Given the description of an element on the screen output the (x, y) to click on. 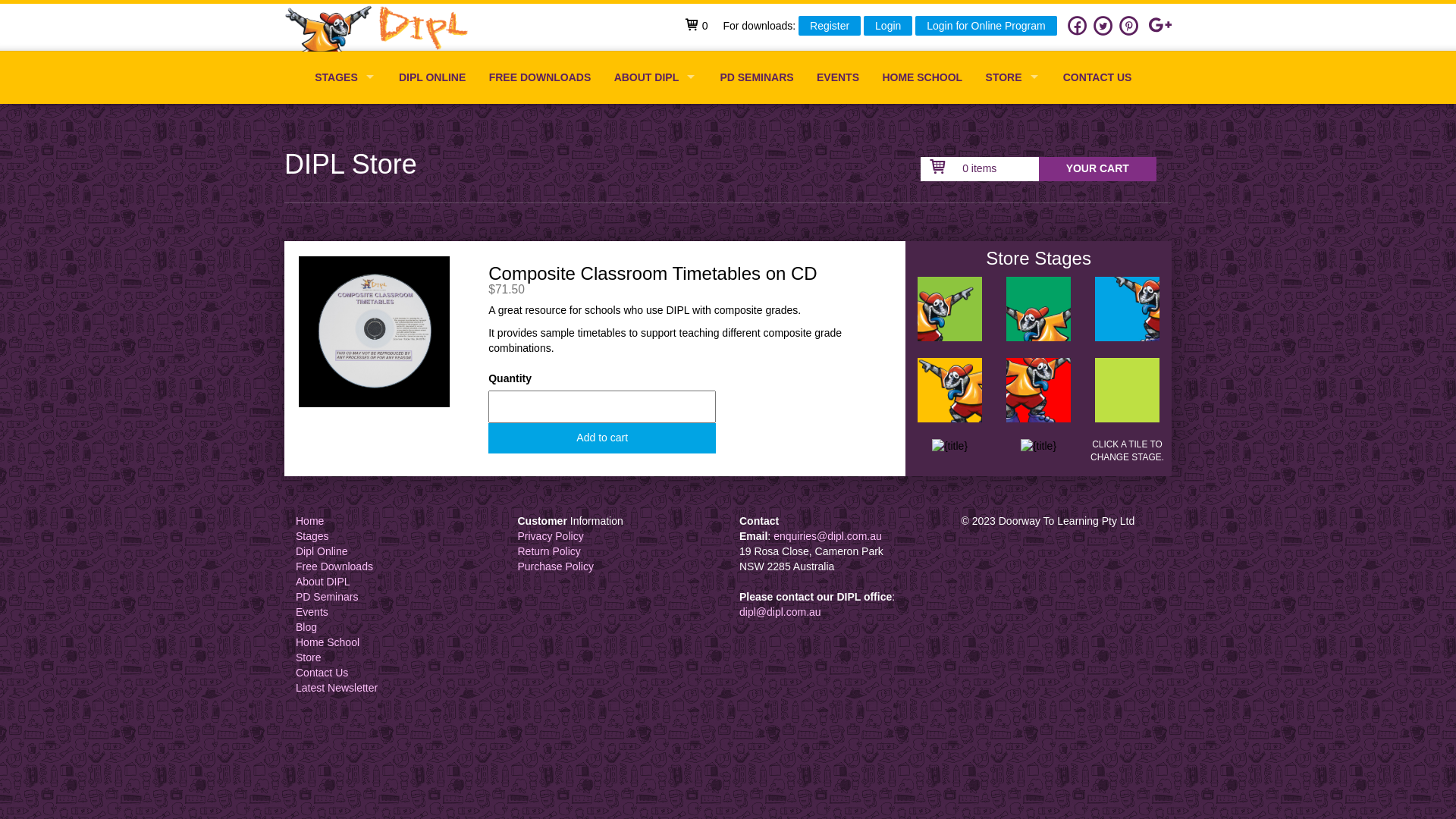
Store Element type: text (307, 657)
Stages Element type: text (312, 536)
enquiries@dipl.com.au Element type: text (827, 536)
Dipl Online Element type: text (321, 551)
HOME SCHOOL Element type: text (921, 77)
Login Element type: text (887, 25)
Free Downloads Element type: text (334, 566)
  Element type: text (380, 27)
Home Element type: text (309, 520)
  Element type: text (949, 316)
About DIPL Element type: text (322, 581)
EVENTS Element type: text (837, 77)
Home School Element type: text (327, 642)
Register Element type: text (829, 25)
Contact Us Element type: text (321, 672)
Add to cart Element type: text (601, 438)
  Element type: text (949, 397)
STAGES Element type: text (345, 77)
DIPL ONLINE Element type: text (432, 77)
  Element type: text (949, 454)
Blog Element type: text (305, 627)
Latest Newsletter Element type: text (336, 687)
YOUR CART Element type: text (1097, 168)
PD SEMINARS Element type: text (756, 77)
  Element type: text (1126, 316)
  Element type: text (1038, 397)
CONTACT US Element type: text (1097, 77)
  Element type: text (1038, 454)
FREE DOWNLOADS Element type: text (539, 77)
dipl@dipl.com.au Element type: text (780, 611)
Privacy Policy Element type: text (550, 536)
Return Policy Element type: text (548, 551)
ABOUT DIPL Element type: text (655, 77)
Purchase Policy Element type: text (555, 566)
  Element type: text (1038, 316)
  Element type: text (1126, 397)
PD Seminars Element type: text (326, 596)
Login for Online Program Element type: text (985, 25)
STORE Element type: text (1012, 77)
Events Element type: text (311, 611)
